Given the description of an element on the screen output the (x, y) to click on. 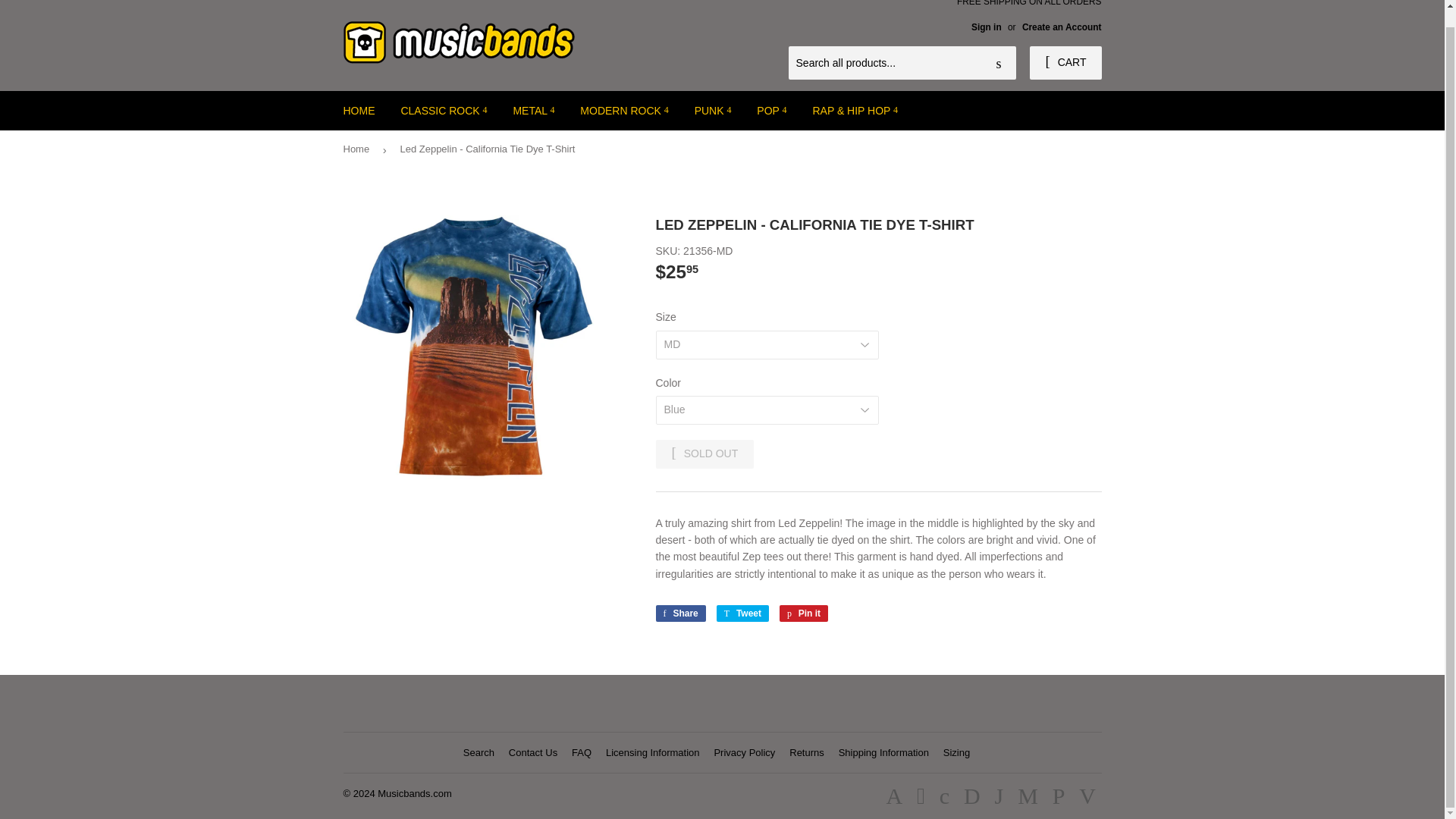
Create an Account (1062, 27)
HOME (359, 110)
Pin on Pinterest (803, 613)
Back to the frontpage (358, 149)
MODERN ROCK (624, 110)
Sign in (986, 27)
CART (1064, 62)
METAL (533, 110)
Search (998, 63)
CLASSIC ROCK (442, 110)
Share on Facebook (679, 613)
Tweet on Twitter (742, 613)
